Given the description of an element on the screen output the (x, y) to click on. 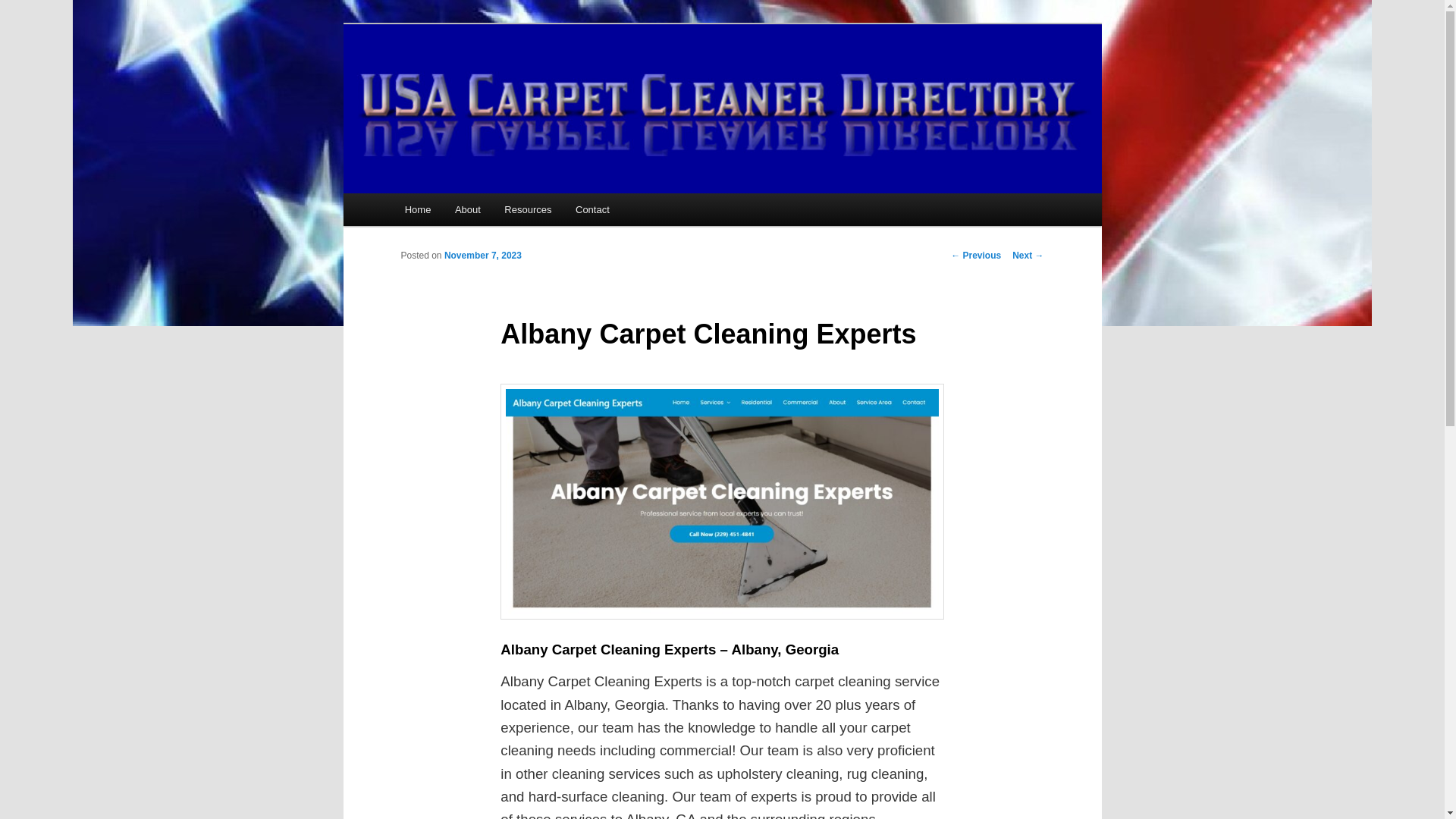
8:55 pm (482, 255)
November 7, 2023 (482, 255)
About (467, 209)
USA Carpet Cleaner Directory (561, 78)
Home (417, 209)
Contact (592, 209)
Resources (528, 209)
